Given the description of an element on the screen output the (x, y) to click on. 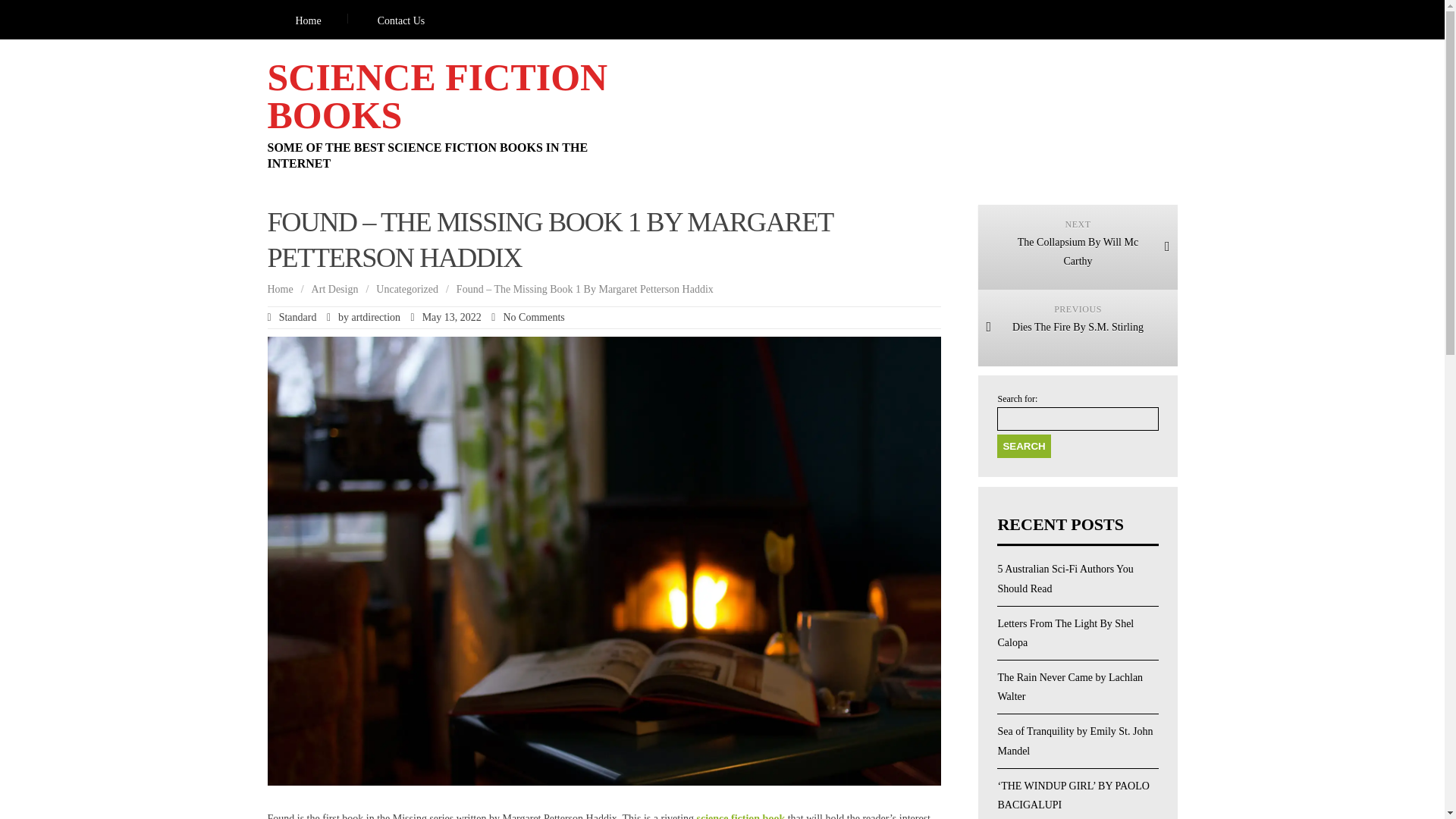
Uncategorized (406, 288)
5 Australian Sci-Fi Authors You Should Read (1064, 578)
The Rain Never Came by Lachlan Walter (1069, 686)
Contact Us (1077, 327)
SCIENCE FICTION BOOKS (400, 19)
Home (436, 96)
Search (307, 19)
artdirection (1023, 445)
science fiction book (1077, 246)
Art Design (376, 317)
Home (741, 816)
Sea of Tranquility by Emily St. John Mandel (334, 288)
Search (279, 288)
